Given the description of an element on the screen output the (x, y) to click on. 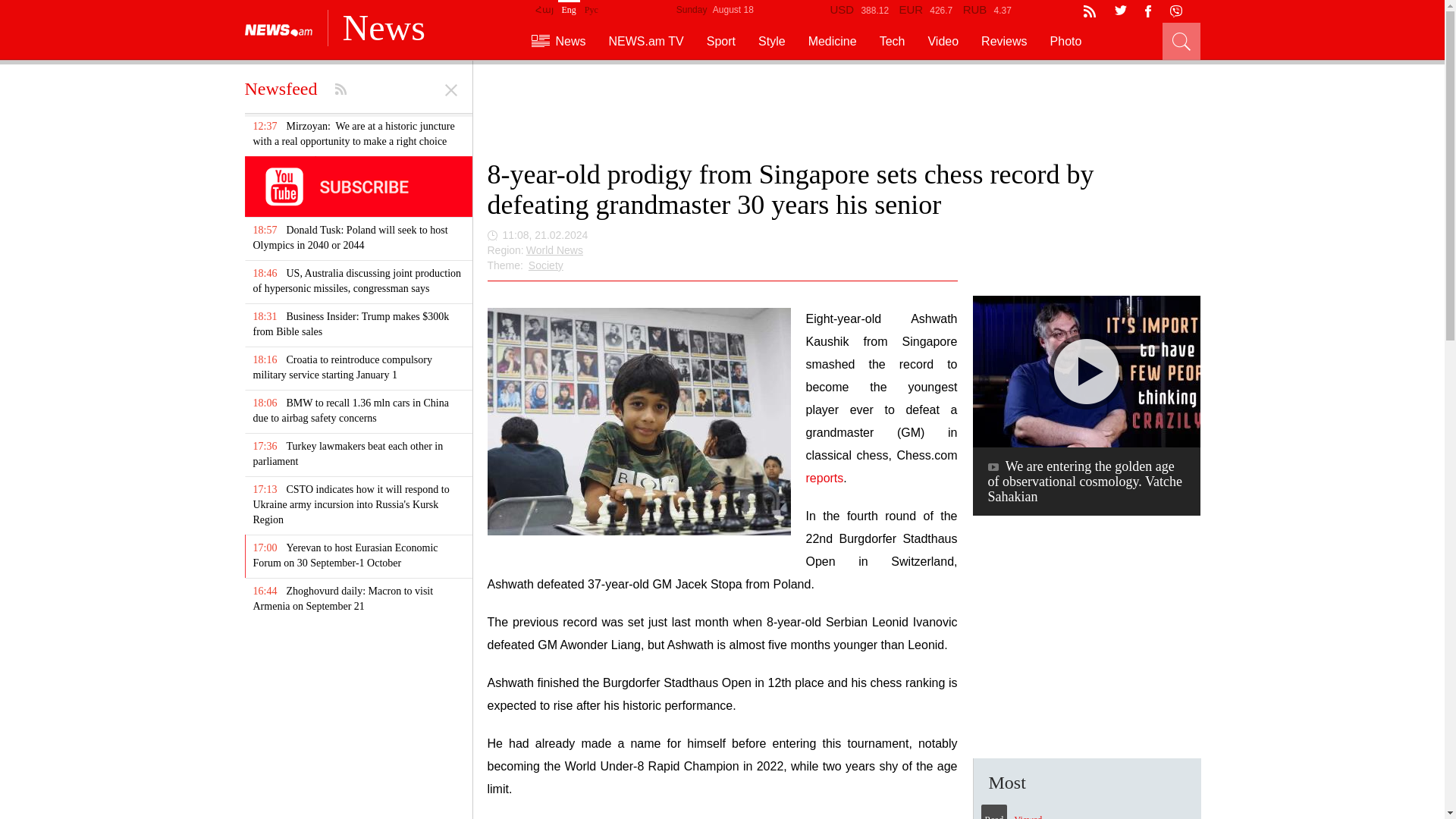
Style (772, 41)
Reviews (1003, 41)
Video (942, 41)
News (558, 41)
Sport (720, 41)
Medicine (832, 41)
Eng (568, 8)
NEWS.am TV (646, 41)
Tech (892, 41)
Photo (1065, 41)
